Given the description of an element on the screen output the (x, y) to click on. 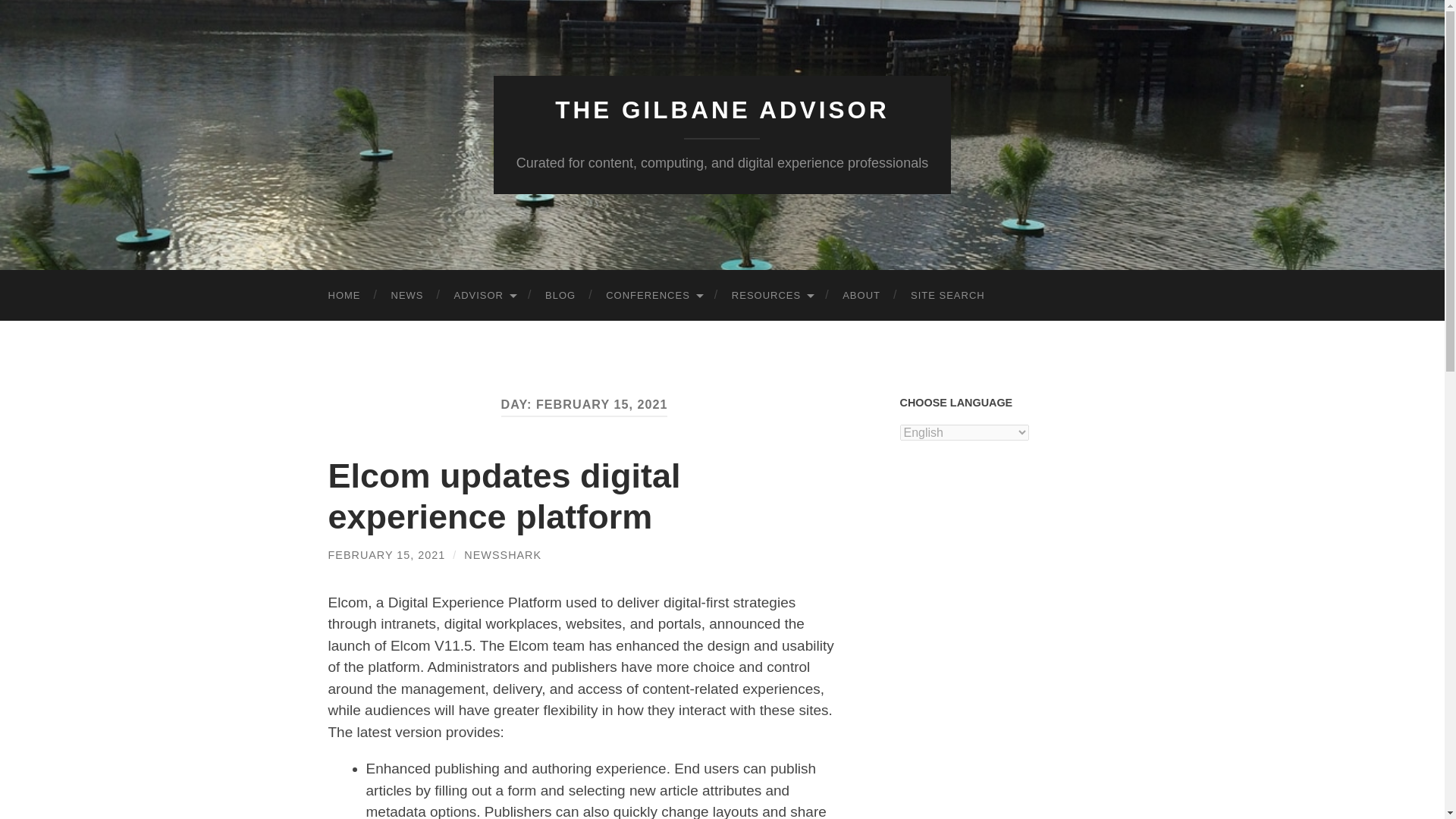
NEWS (407, 295)
RESOURCES (771, 295)
BLOG (560, 295)
CONFERENCES (653, 295)
ABOUT (861, 295)
HOME (344, 295)
THE GILBANE ADVISOR (721, 109)
ADVISOR (483, 295)
Posts by NewsShark (502, 554)
SITE SEARCH (947, 295)
